Given the description of an element on the screen output the (x, y) to click on. 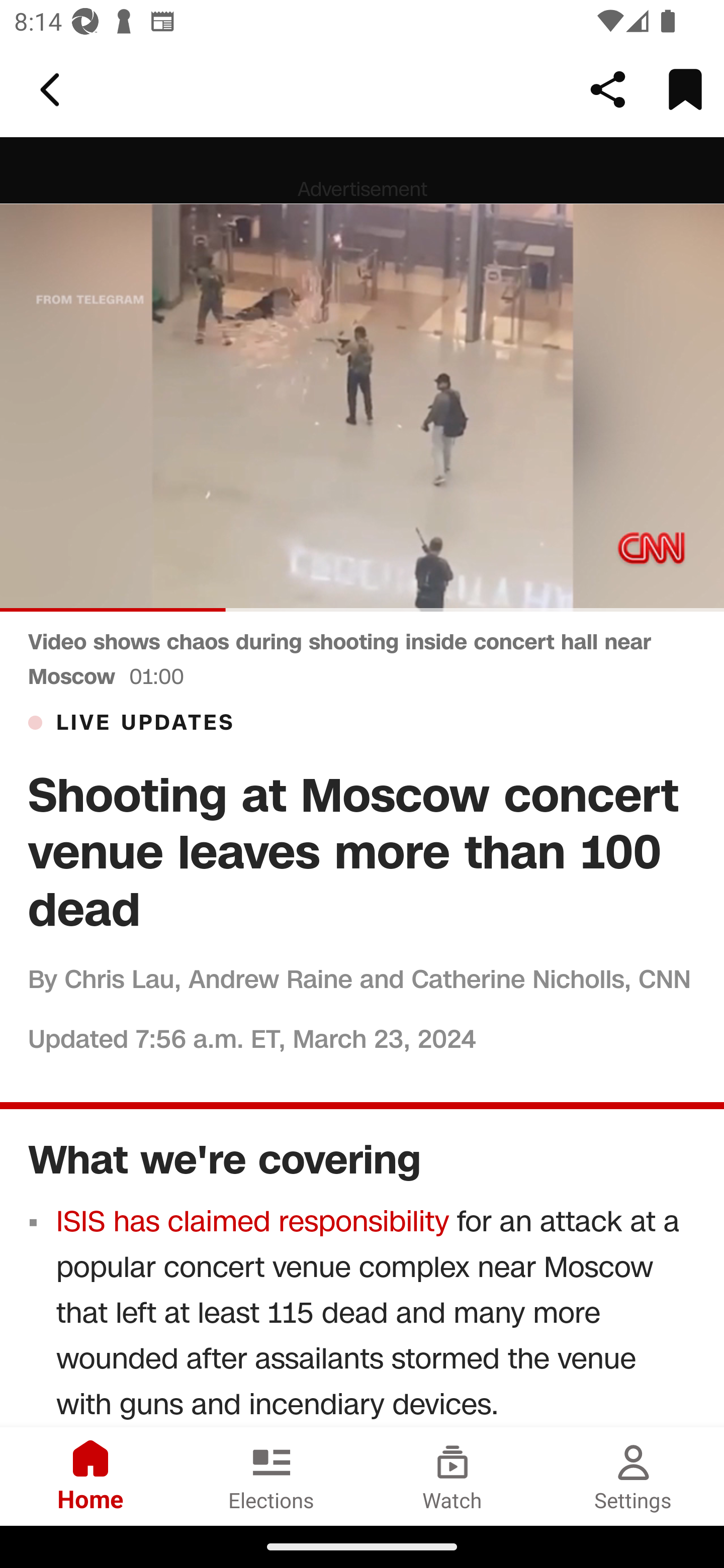
Back Button (52, 89)
Share (607, 89)
Bookmark (685, 89)
Andrew Raine (269, 978)
ISIS has claimed responsibility (253, 1221)
Elections (271, 1475)
Watch (452, 1475)
Settings (633, 1475)
